Given the description of an element on the screen output the (x, y) to click on. 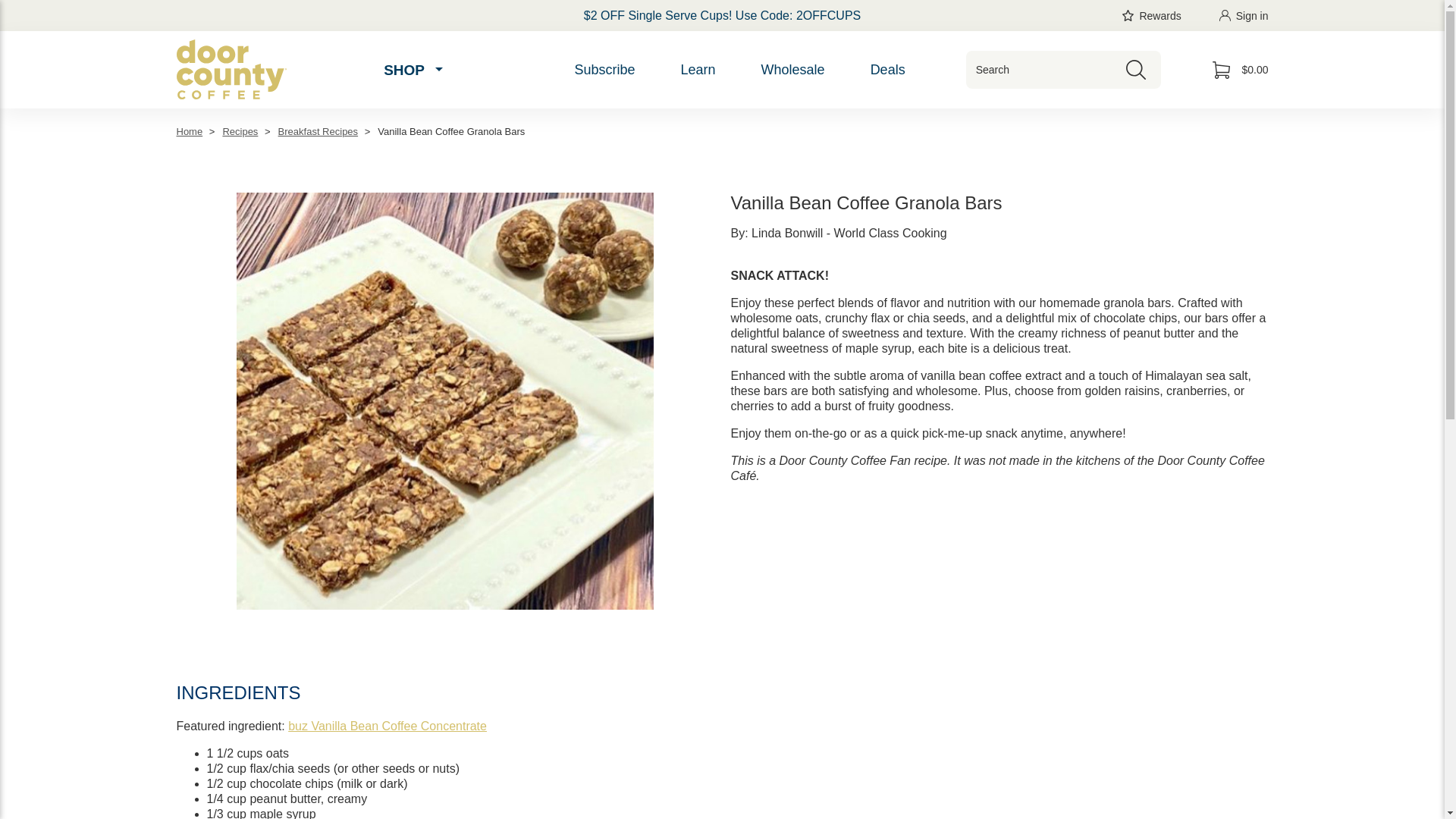
Learn about our subscribe and save program (604, 69)
Visit our wholesale site (792, 69)
Rewards (1151, 14)
Sign in (1244, 14)
Check out our deals and offers (887, 69)
SHOP (412, 69)
Learn more about Door County Coffee (698, 69)
